Given the description of an element on the screen output the (x, y) to click on. 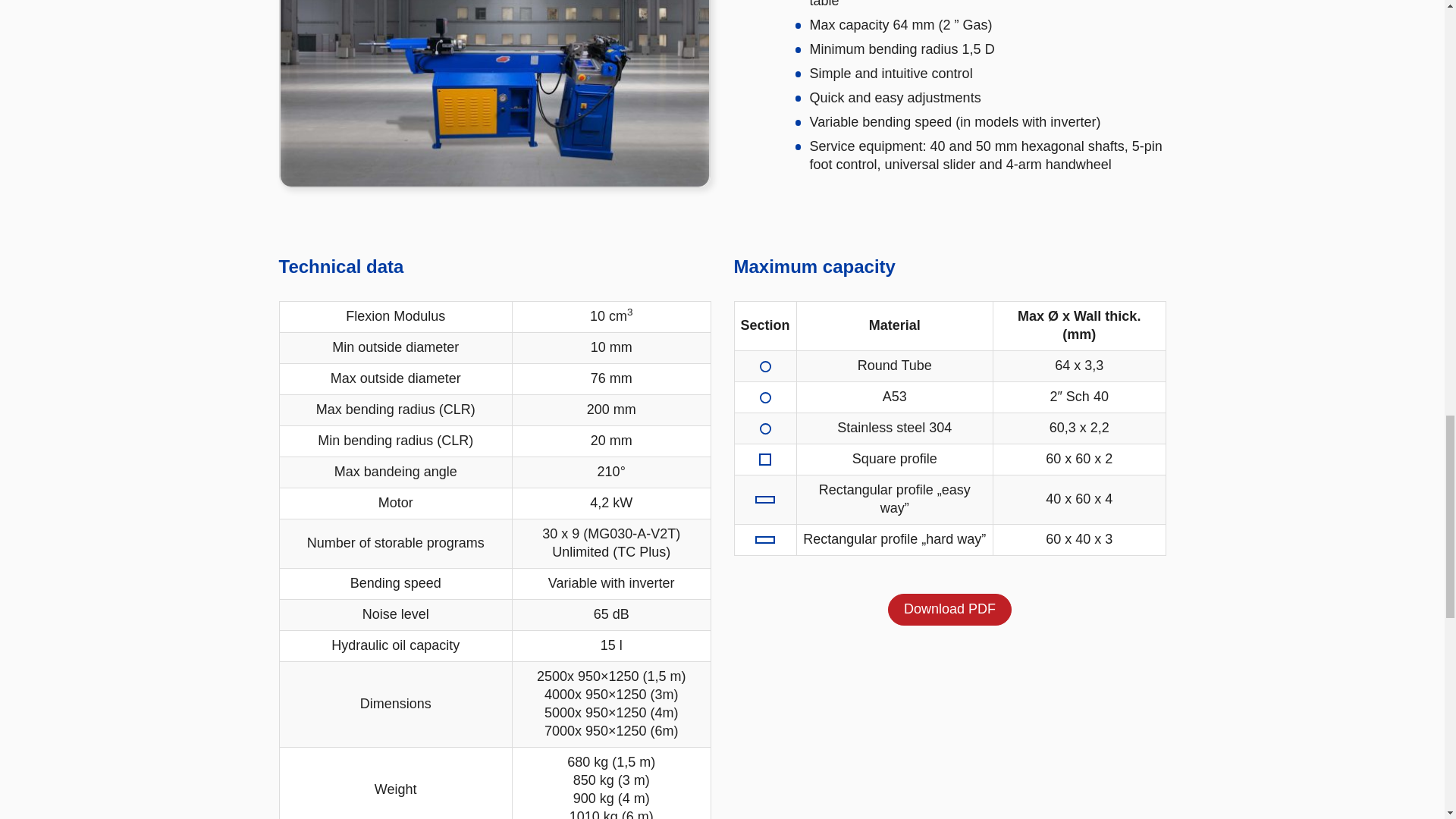
Download PDF (949, 609)
